Given the description of an element on the screen output the (x, y) to click on. 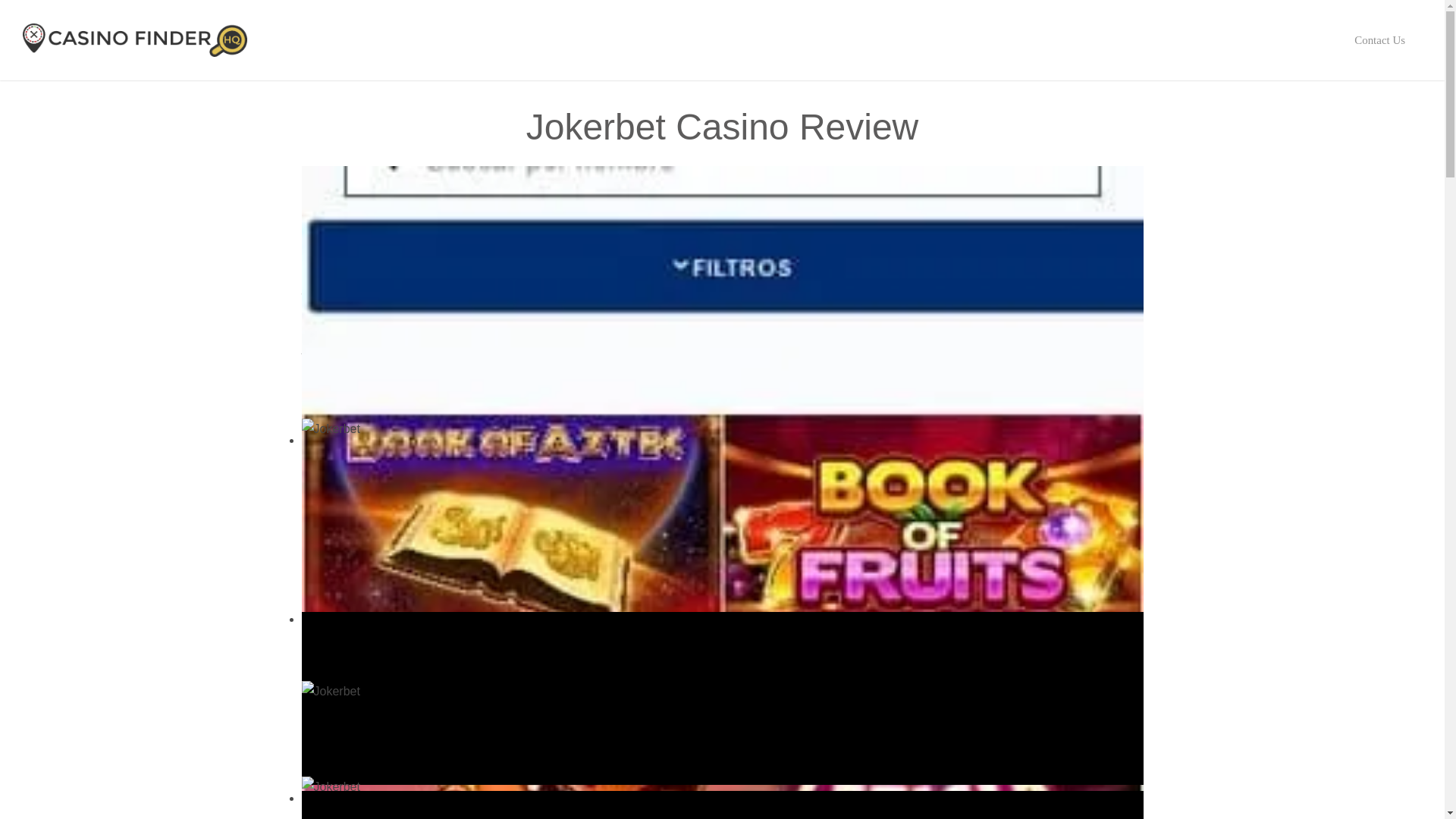
Jokerbet 2 (721, 749)
Jokerbet 1 (721, 797)
Spain (869, 318)
Contact Us (1380, 40)
Spain (869, 318)
